Given the description of an element on the screen output the (x, y) to click on. 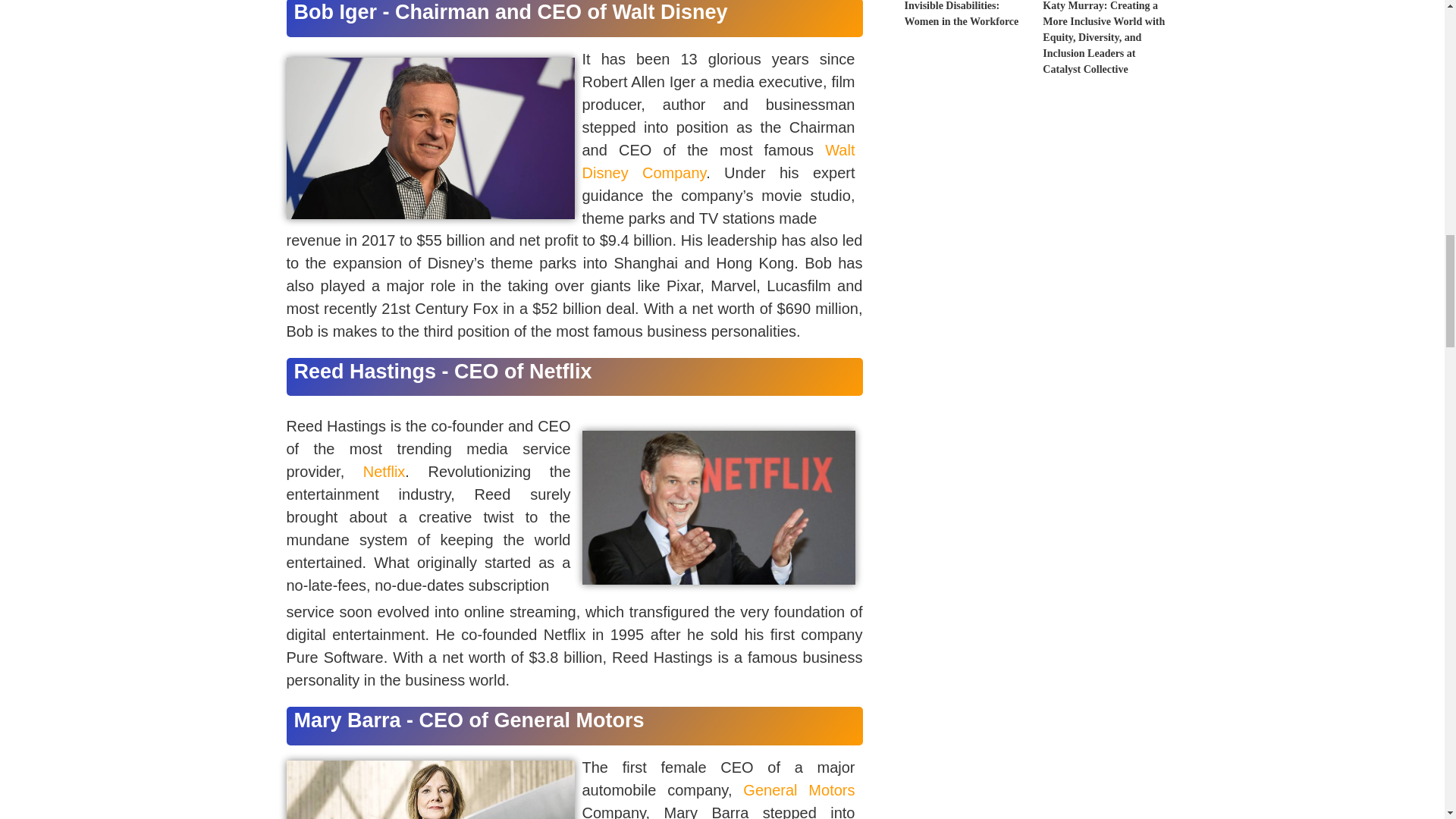
Walt Disney Company (719, 160)
